Given the description of an element on the screen output the (x, y) to click on. 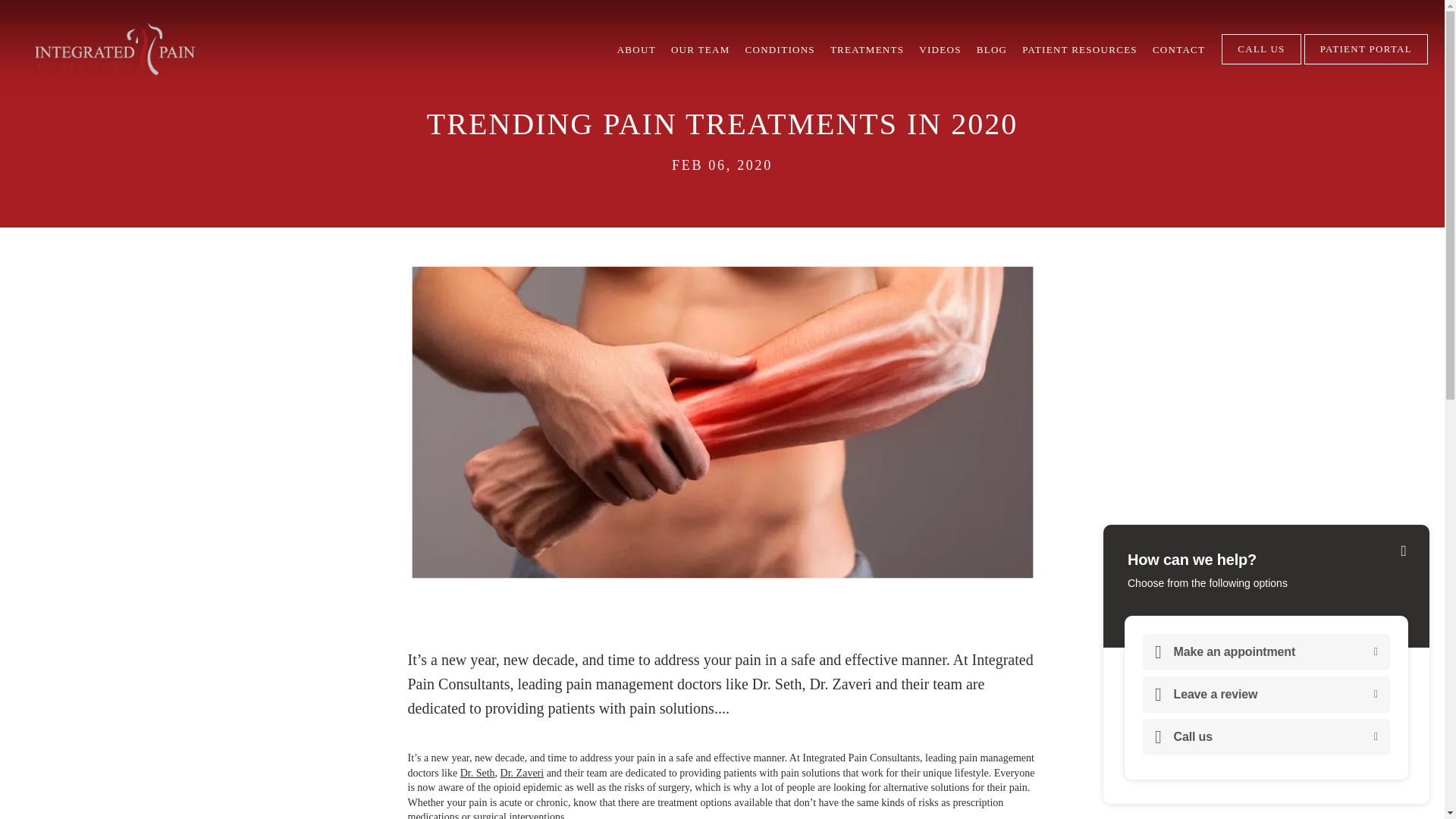
ABOUT (636, 49)
OUR TEAM (700, 49)
CONDITIONS (780, 49)
TREATMENTS (866, 49)
